Given the description of an element on the screen output the (x, y) to click on. 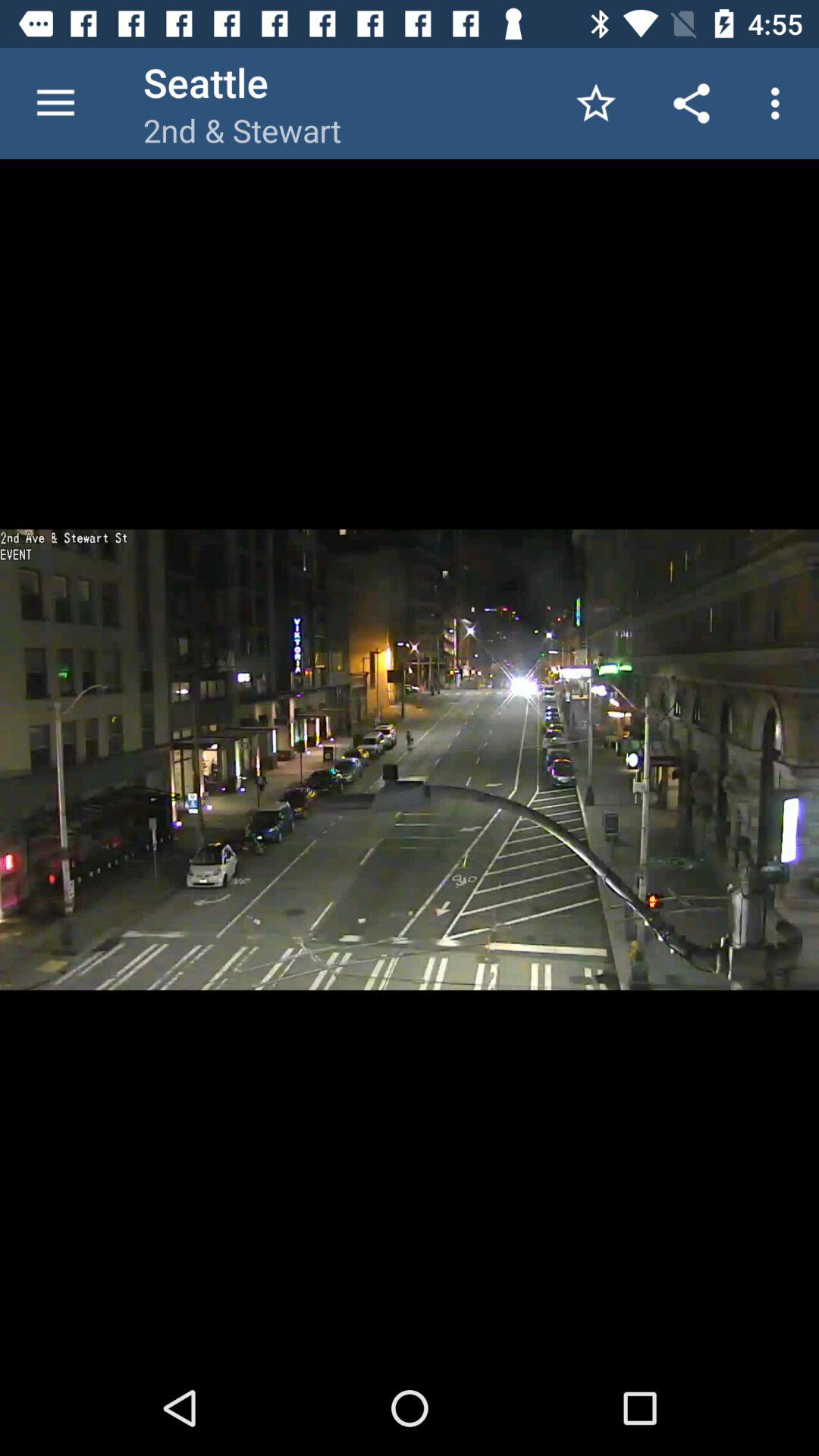
choose the app to the right of 2nd & stewart item (595, 103)
